Given the description of an element on the screen output the (x, y) to click on. 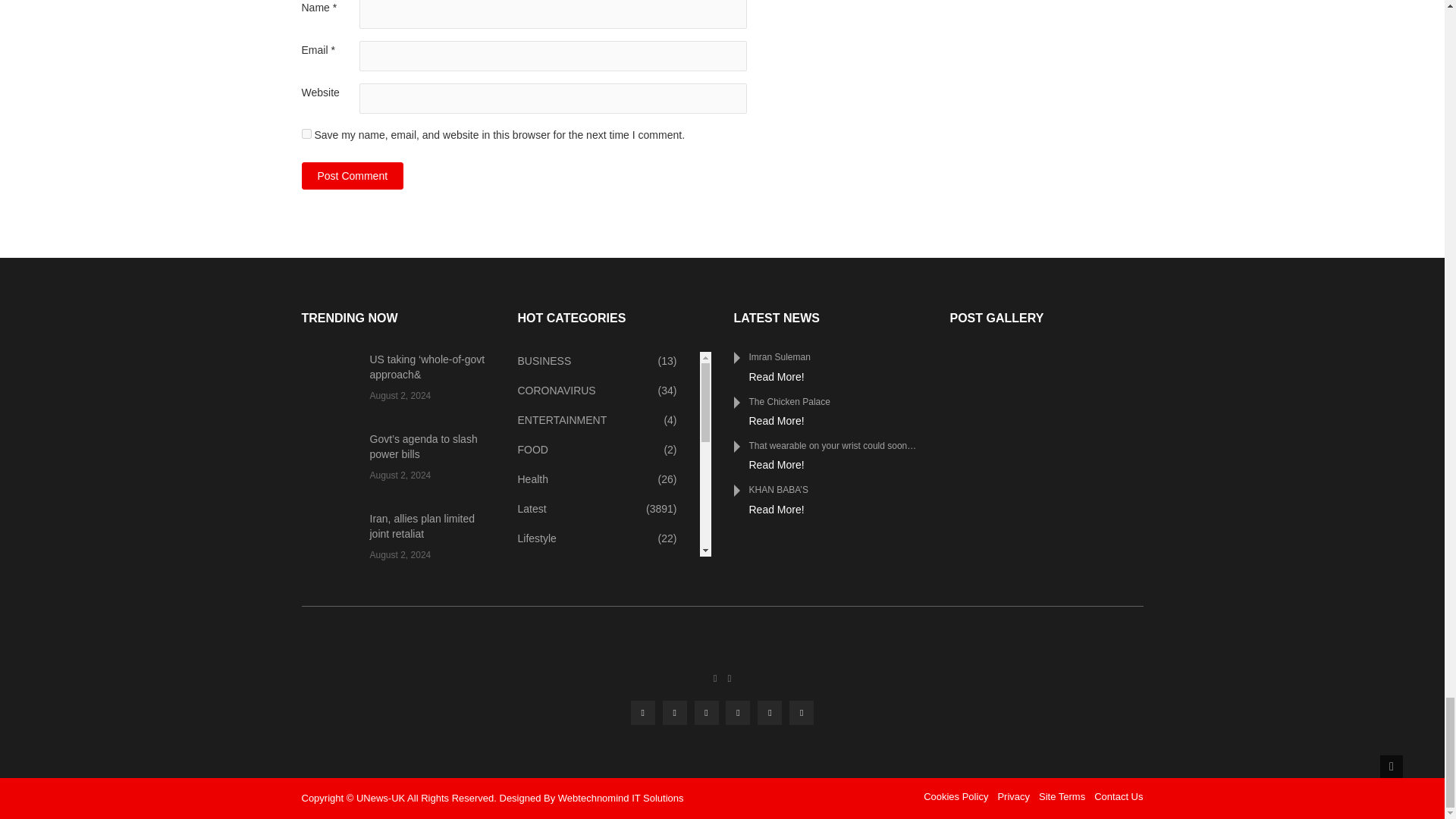
Post Comment (352, 175)
yes (306, 133)
